Given the description of an element on the screen output the (x, y) to click on. 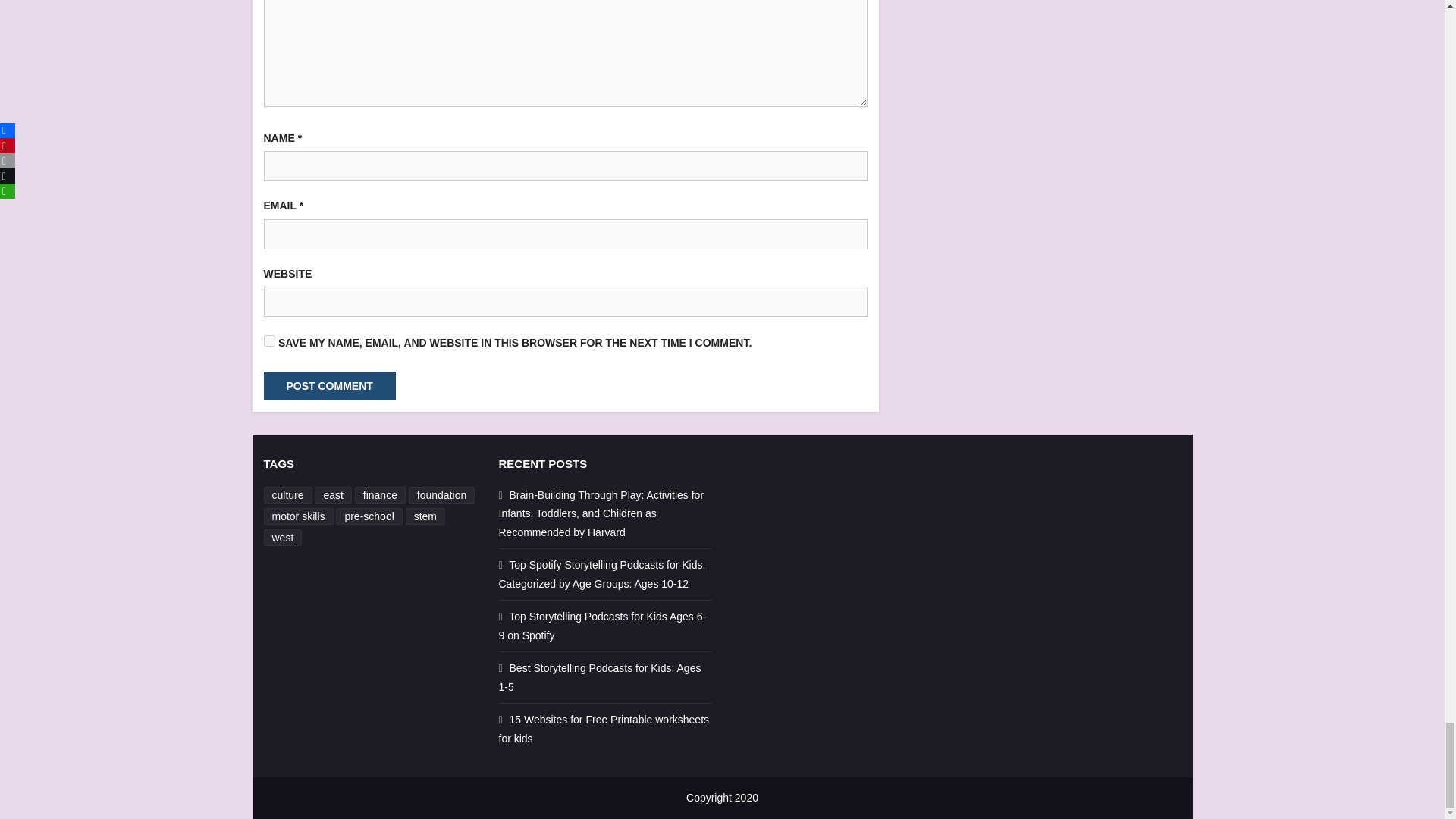
Post Comment (329, 385)
yes (269, 340)
